Given the description of an element on the screen output the (x, y) to click on. 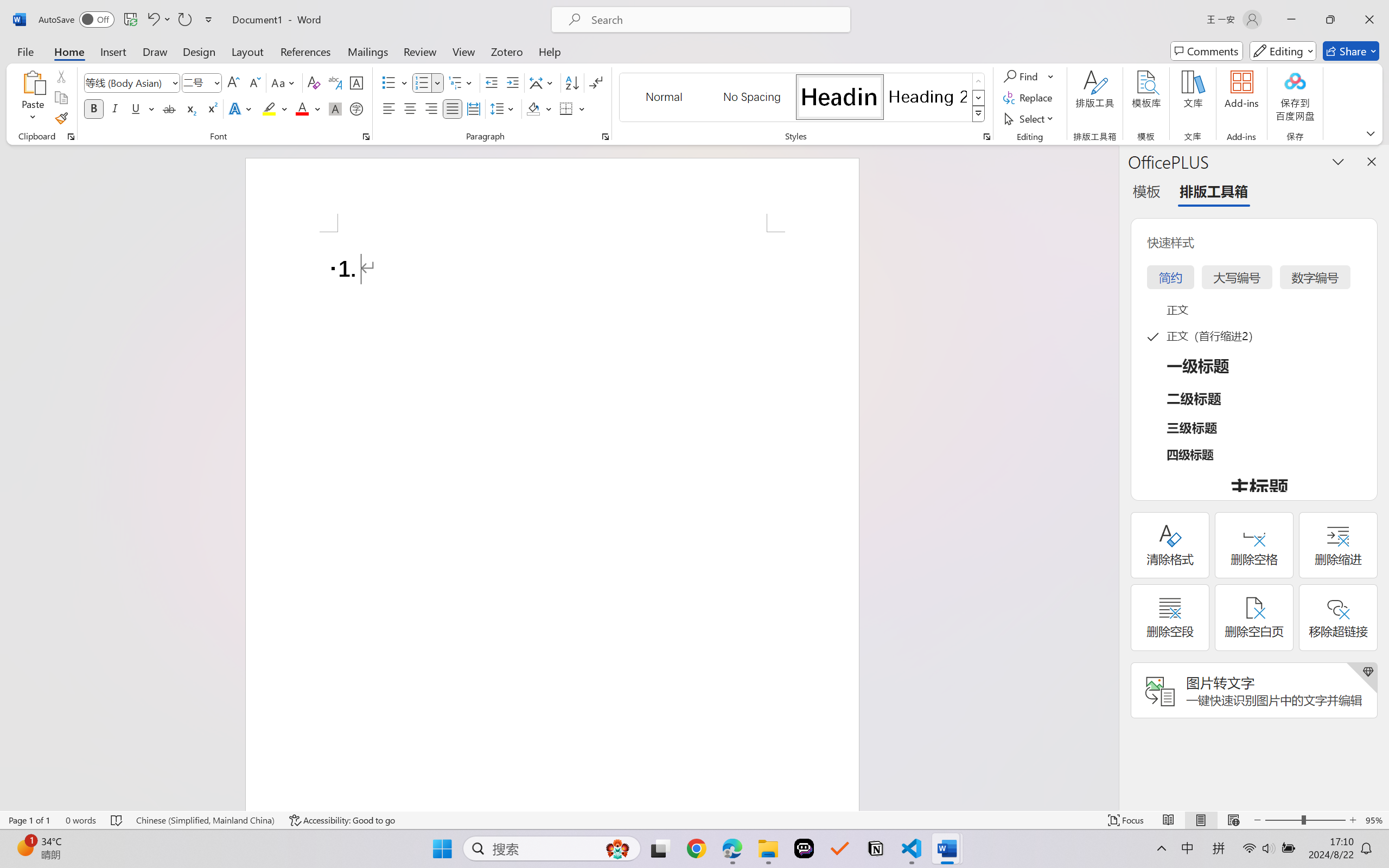
AutomationID: QuickStylesGallery (802, 97)
